Given the description of an element on the screen output the (x, y) to click on. 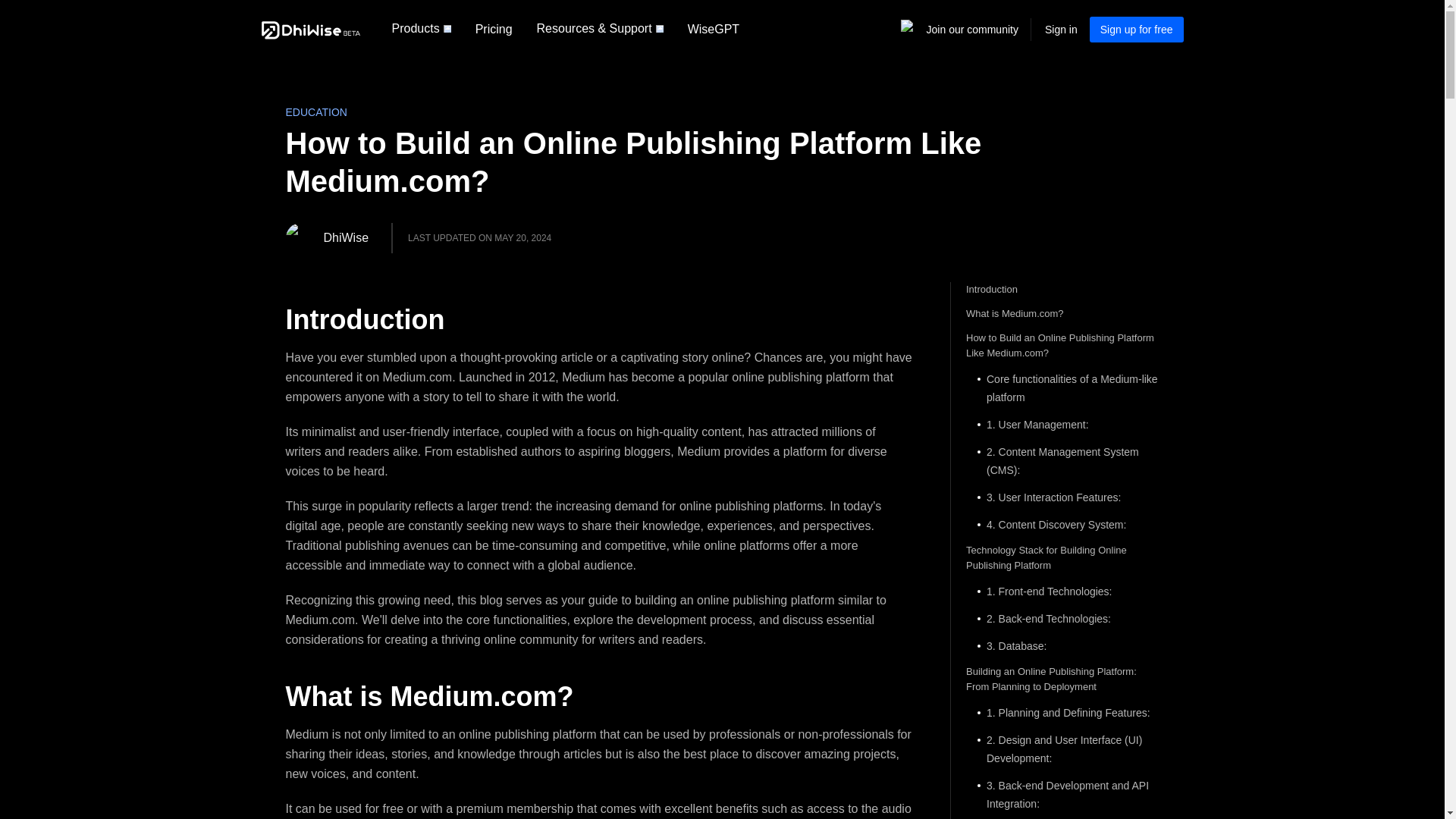
3. Database: (1062, 646)
4. Content Discovery System: (1062, 524)
Share on LinkedIn (1131, 253)
1. Front-end Technologies: (1062, 591)
Technology Stack for Building Online Publishing Platform (1062, 557)
Sign up for free (1136, 29)
Sign in (1061, 29)
What is Medium.com? (1062, 313)
2. Back-end Technologies: (1062, 618)
1. Planning and Defining Features: (1062, 712)
Share on Facebook (1108, 253)
Join our community (972, 29)
3. User Interaction Features: (1062, 497)
How to Build an Online Publishing Platform Like Medium.com? (1062, 345)
